Given the description of an element on the screen output the (x, y) to click on. 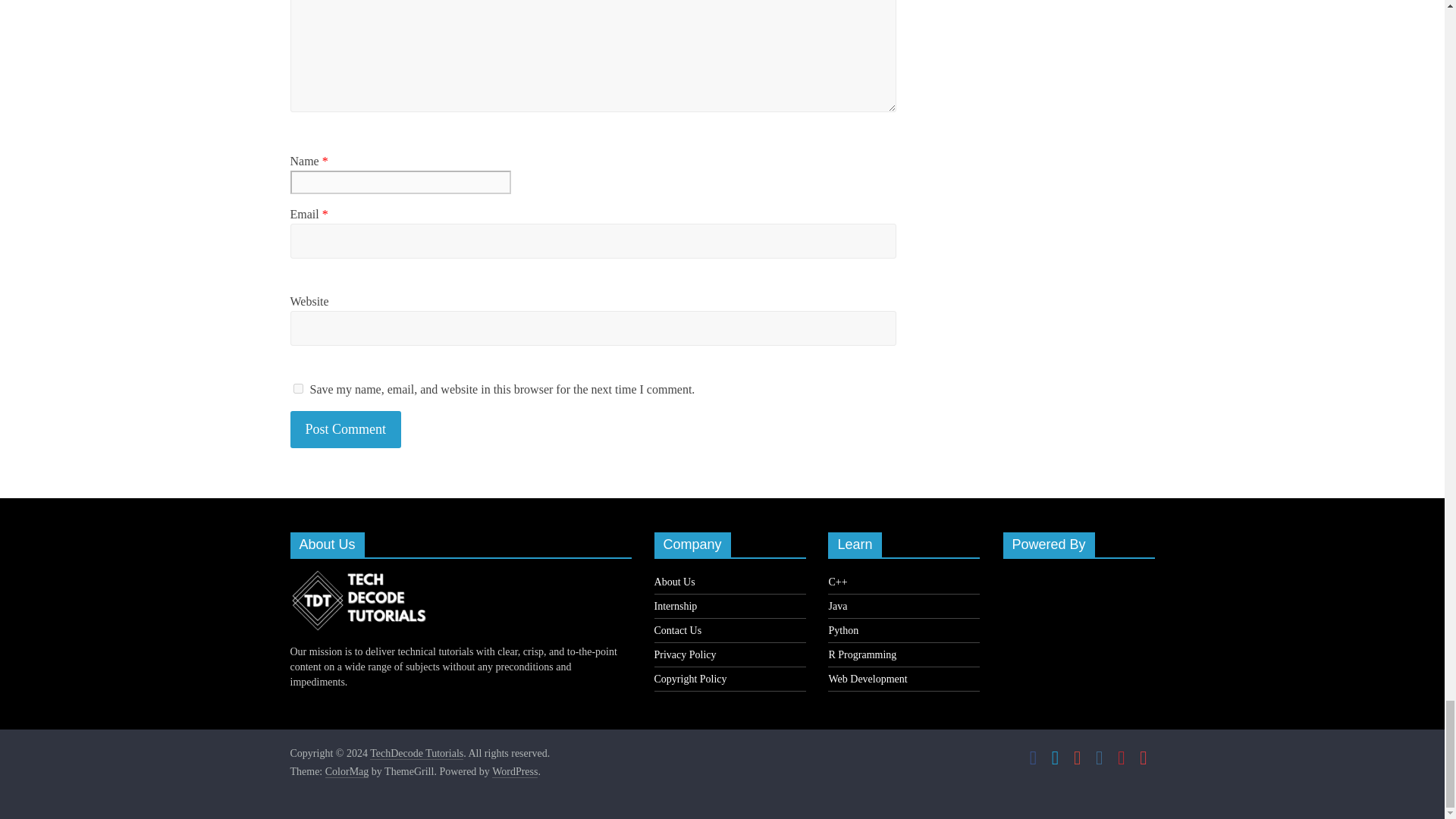
Post Comment (345, 429)
yes (297, 388)
